Given the description of an element on the screen output the (x, y) to click on. 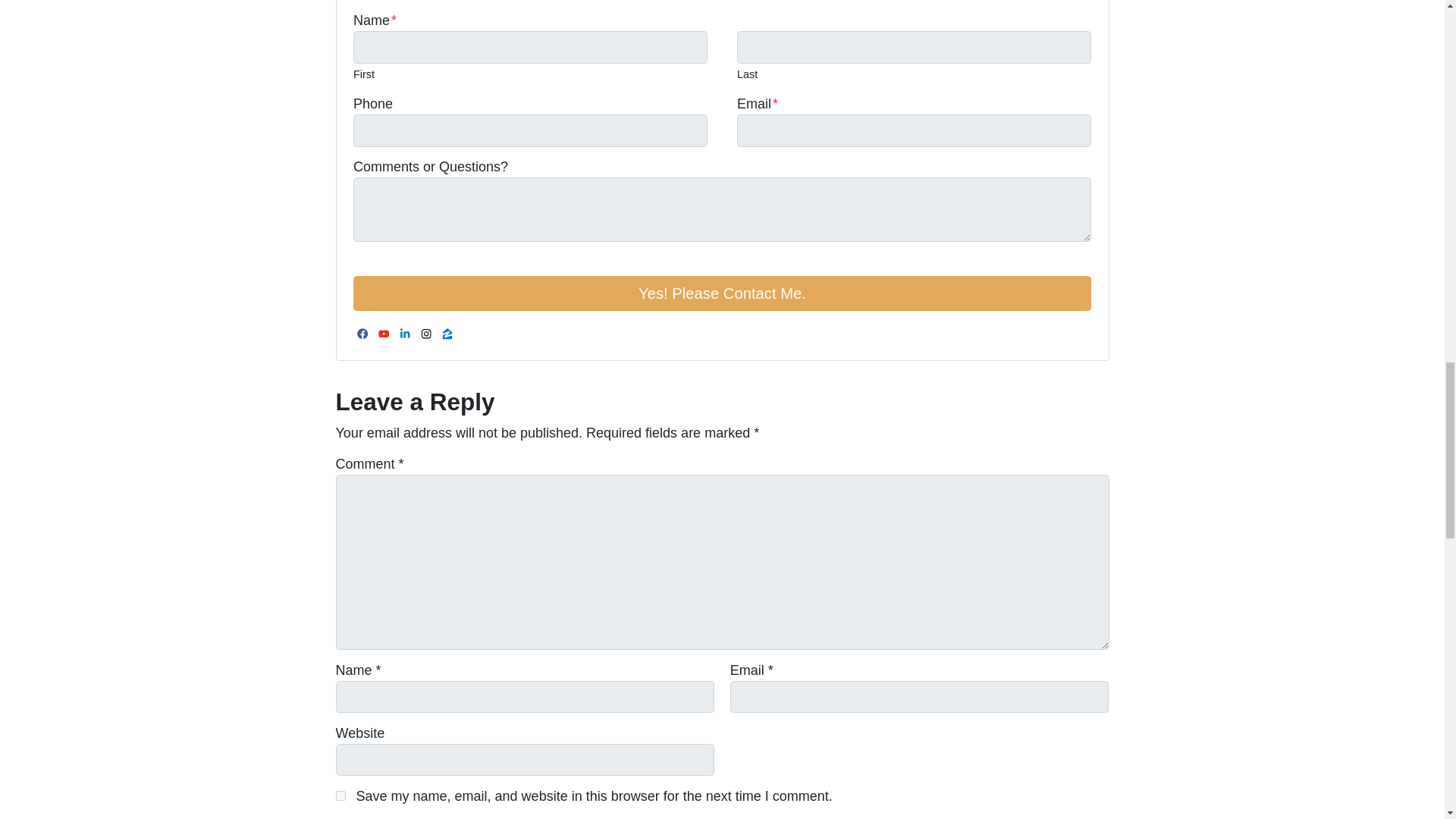
yes (339, 795)
Yes! Please Contact Me.  (721, 293)
Facebook (362, 333)
Yes! Please Contact Me.  (721, 293)
YouTube (383, 333)
Instagram (425, 333)
LinkedIn (404, 333)
Zillow (447, 333)
